Given the description of an element on the screen output the (x, y) to click on. 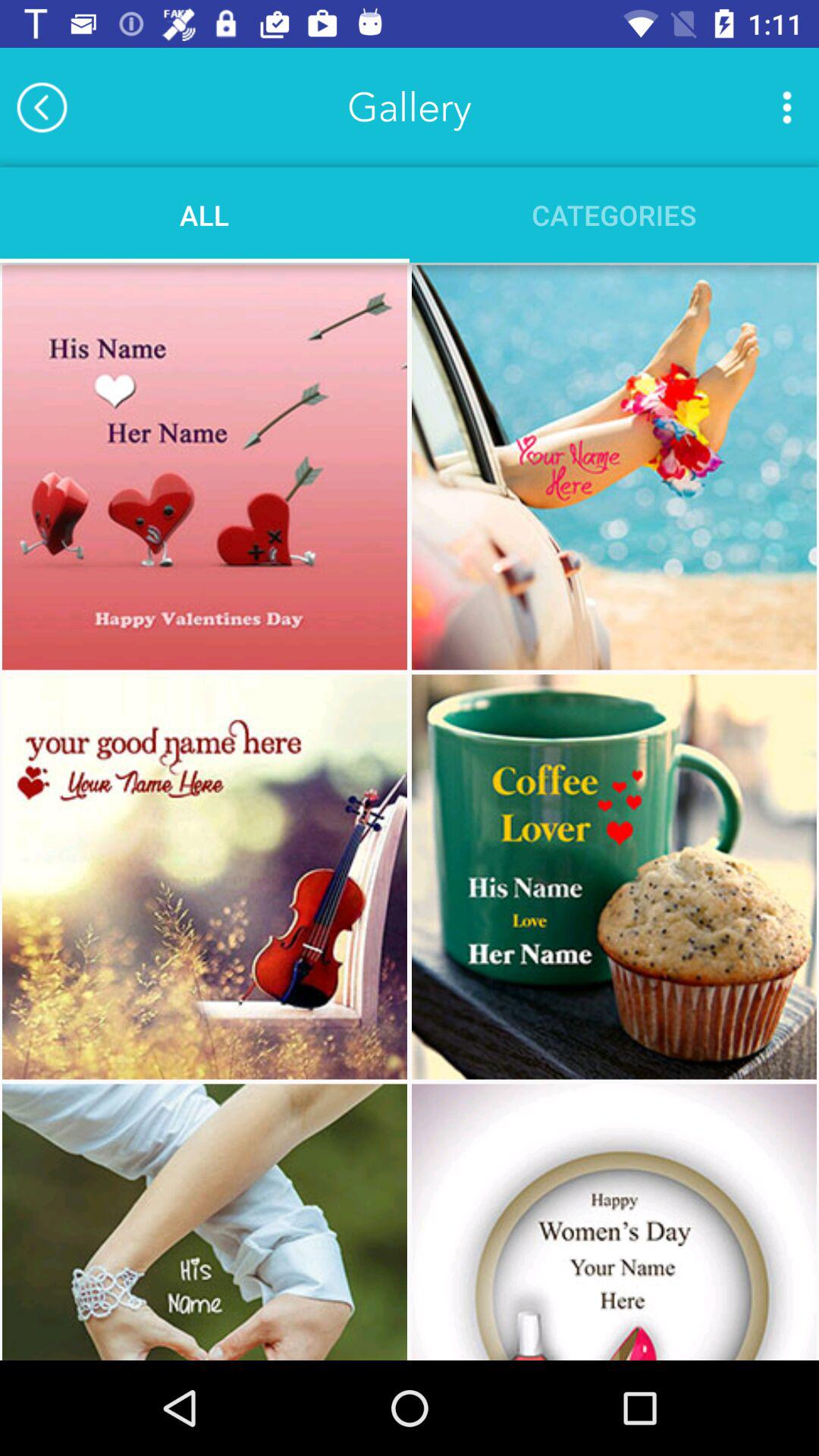
more info (787, 107)
